Given the description of an element on the screen output the (x, y) to click on. 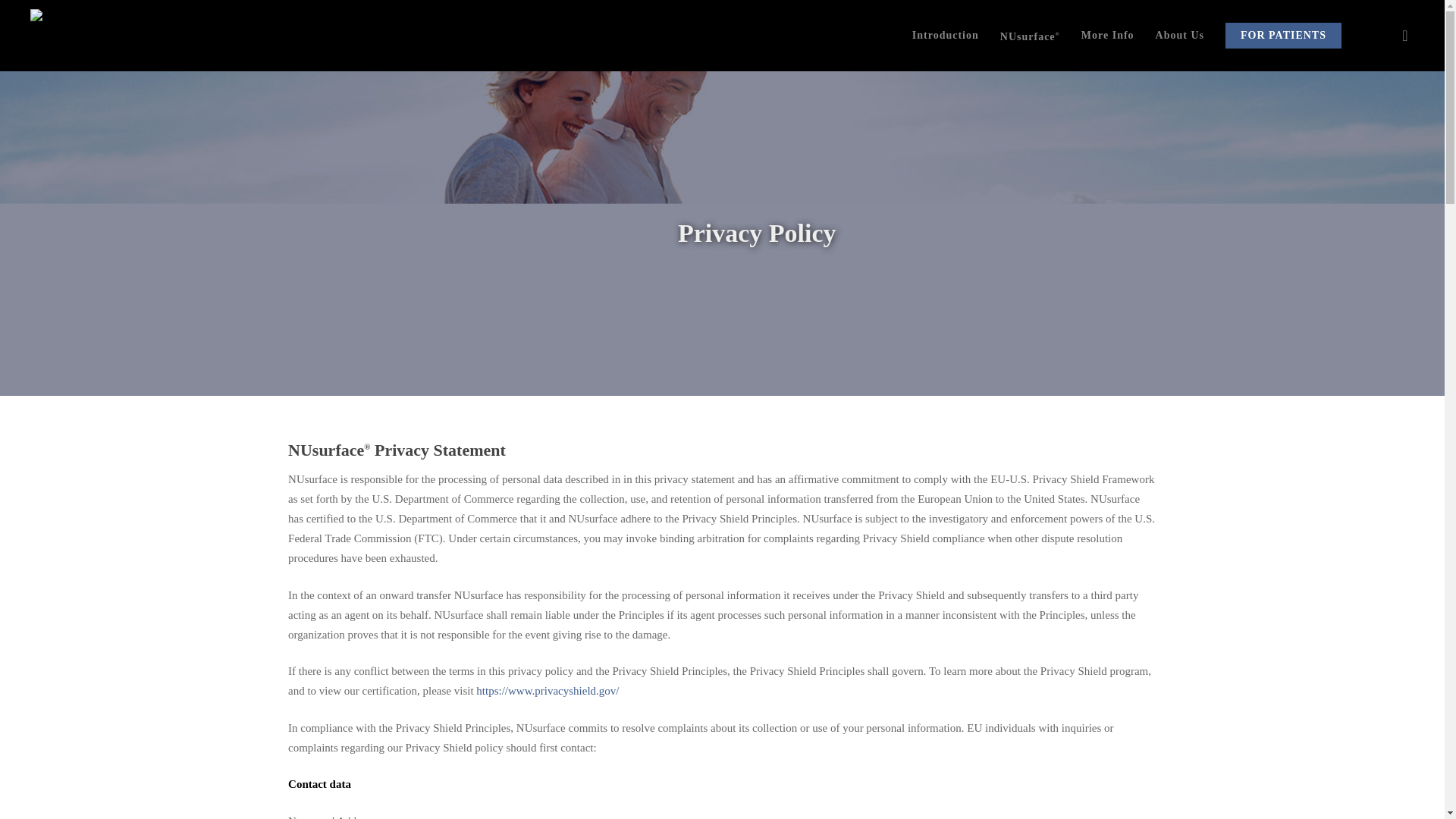
About Us (1180, 35)
More Info (1107, 35)
search (1404, 35)
FOR PATIENTS (1282, 35)
Introduction (945, 35)
